Given the description of an element on the screen output the (x, y) to click on. 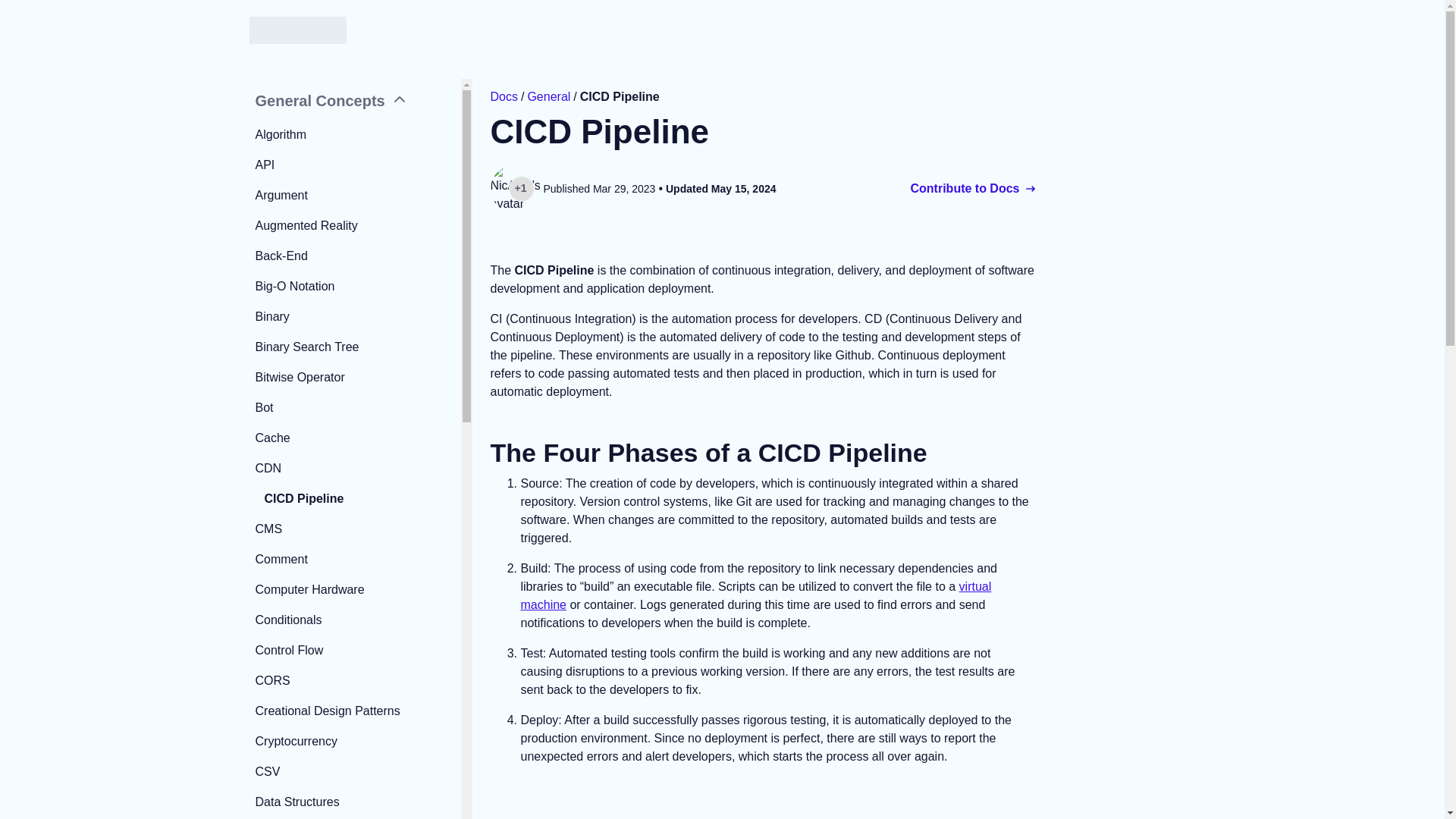
Augmented Reality (354, 226)
Conditionals (354, 619)
Bitwise Operator (354, 377)
Control Flow (354, 650)
Comment (354, 559)
Bot (354, 407)
API (354, 165)
Data Structures (354, 802)
Cryptocurrency (354, 741)
Algorithm (354, 135)
